Given the description of an element on the screen output the (x, y) to click on. 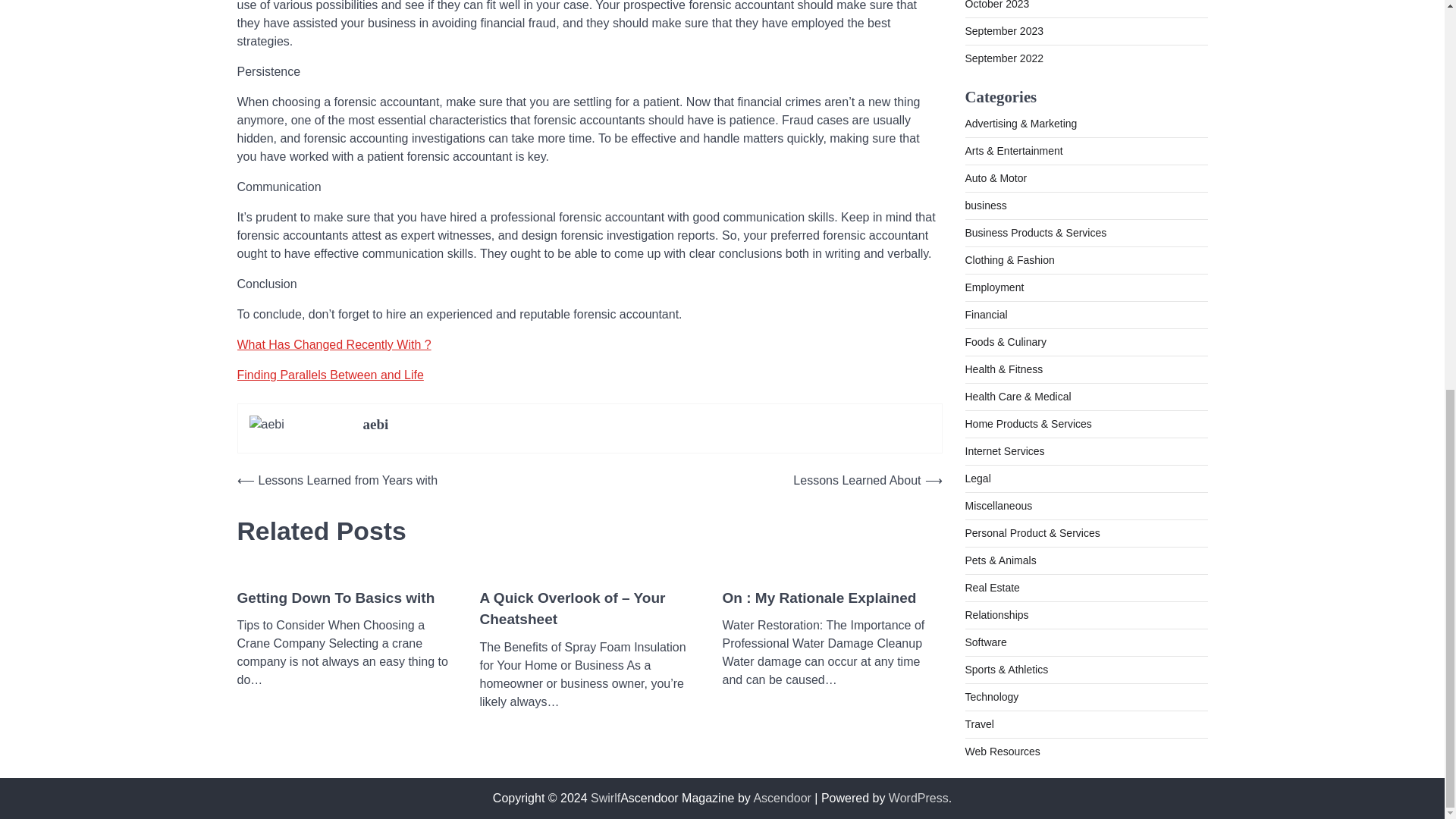
business (984, 205)
October 2023 (996, 4)
September 2023 (1003, 30)
September 2022 (1003, 58)
Employment (993, 287)
Getting Down To Basics with (334, 598)
Finding Parallels Between and Life (329, 374)
What Has Changed Recently With ? (332, 344)
On : My Rationale Explained (818, 598)
